Given the description of an element on the screen output the (x, y) to click on. 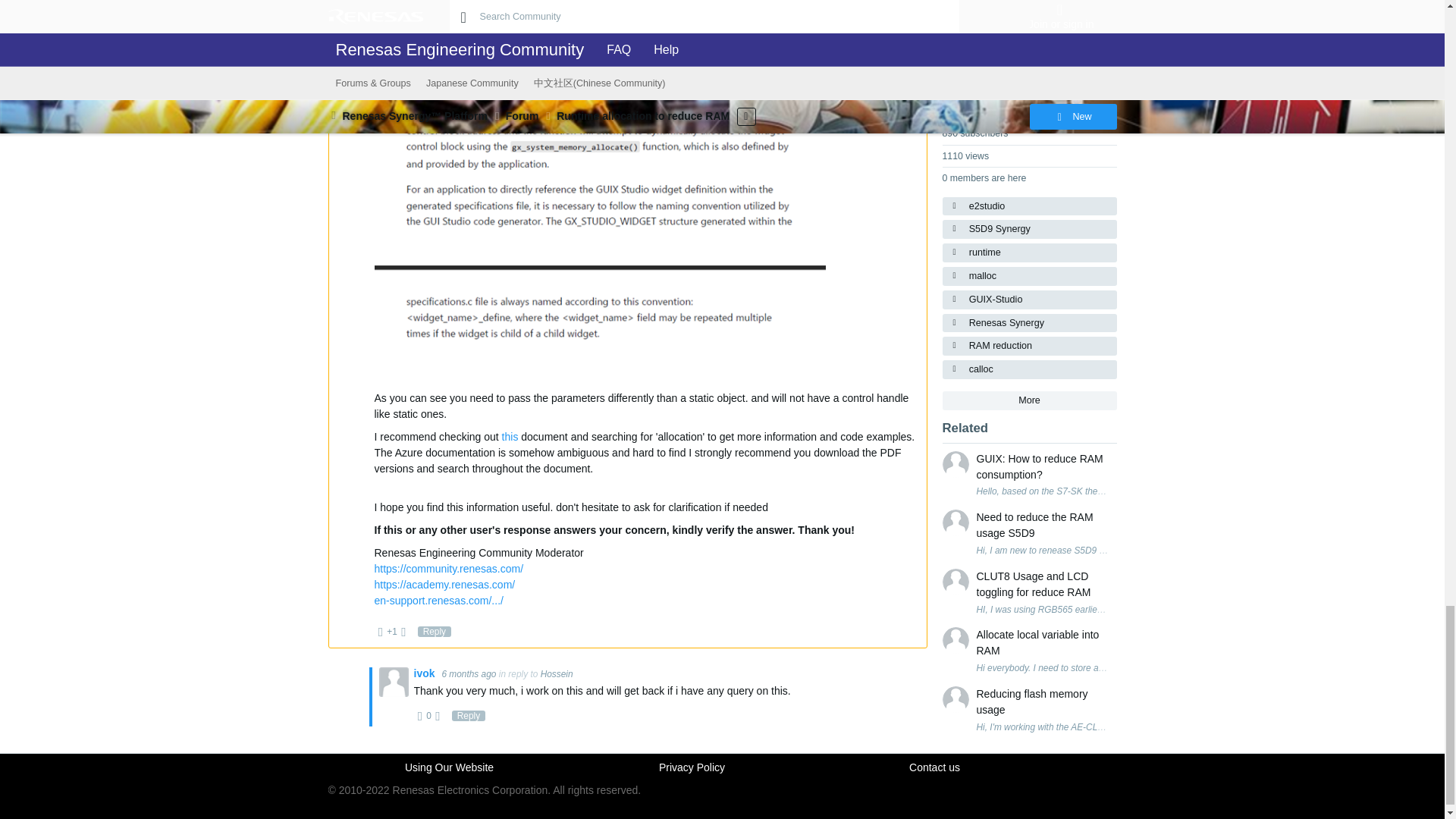
GUIX: How to reduce RAM consumption? (1042, 467)
malloc (1029, 275)
RAM reduction (1029, 345)
More (1029, 400)
S5D9 Synergy (1029, 229)
Renesas Synergy (1029, 322)
runtime (1029, 252)
GUIX-Studio (1029, 299)
e2studio (1029, 206)
Need to reduce the RAM usage S5D9 (1042, 525)
